Given the description of an element on the screen output the (x, y) to click on. 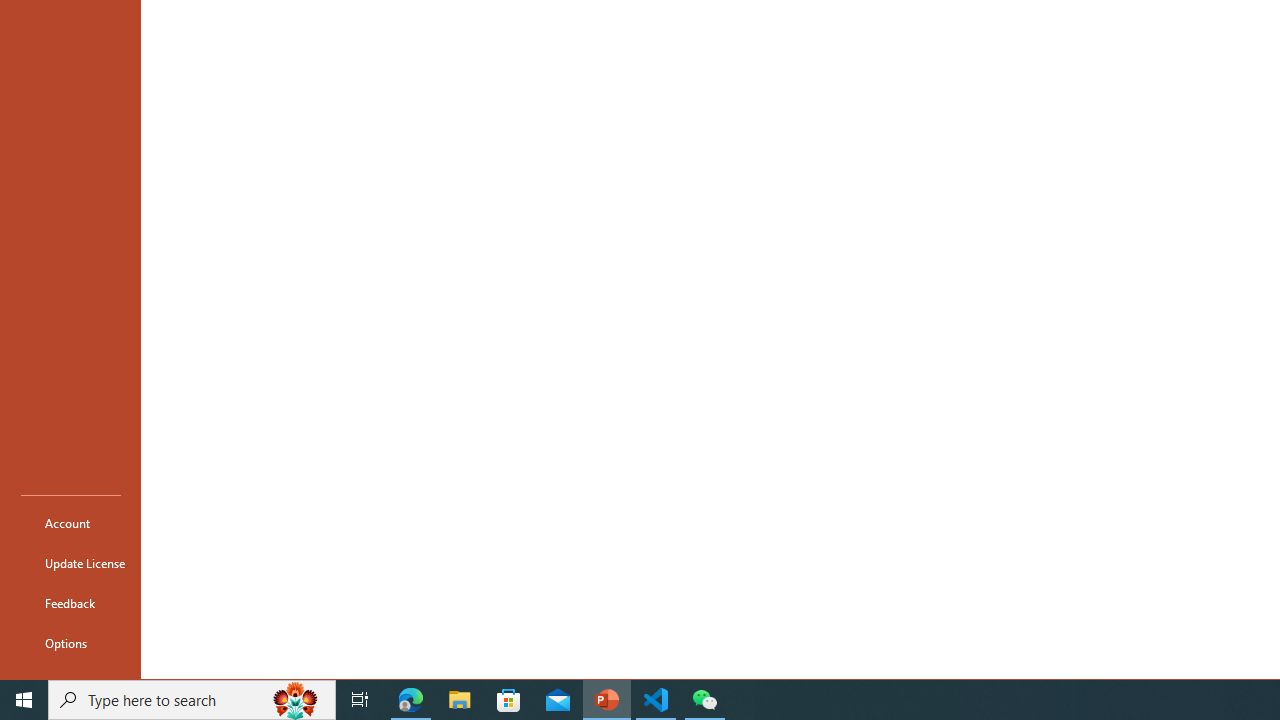
WeChat - 1 running window (704, 699)
Options (70, 642)
Update License (70, 562)
Feedback (70, 602)
Microsoft Edge - 1 running window (411, 699)
Account (70, 522)
